Given the description of an element on the screen output the (x, y) to click on. 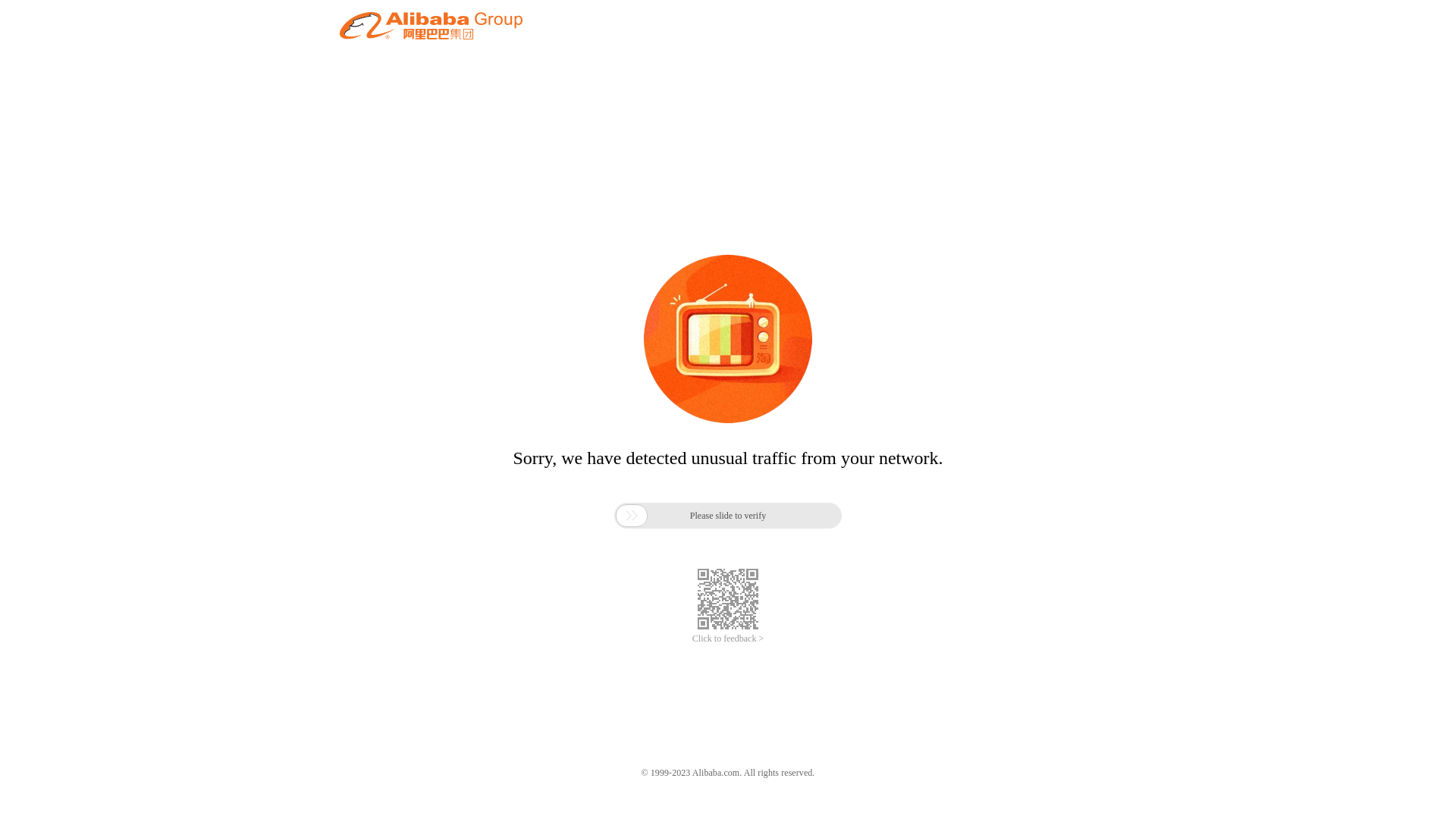
Click to feedback > Element type: text (727, 638)
